Given the description of an element on the screen output the (x, y) to click on. 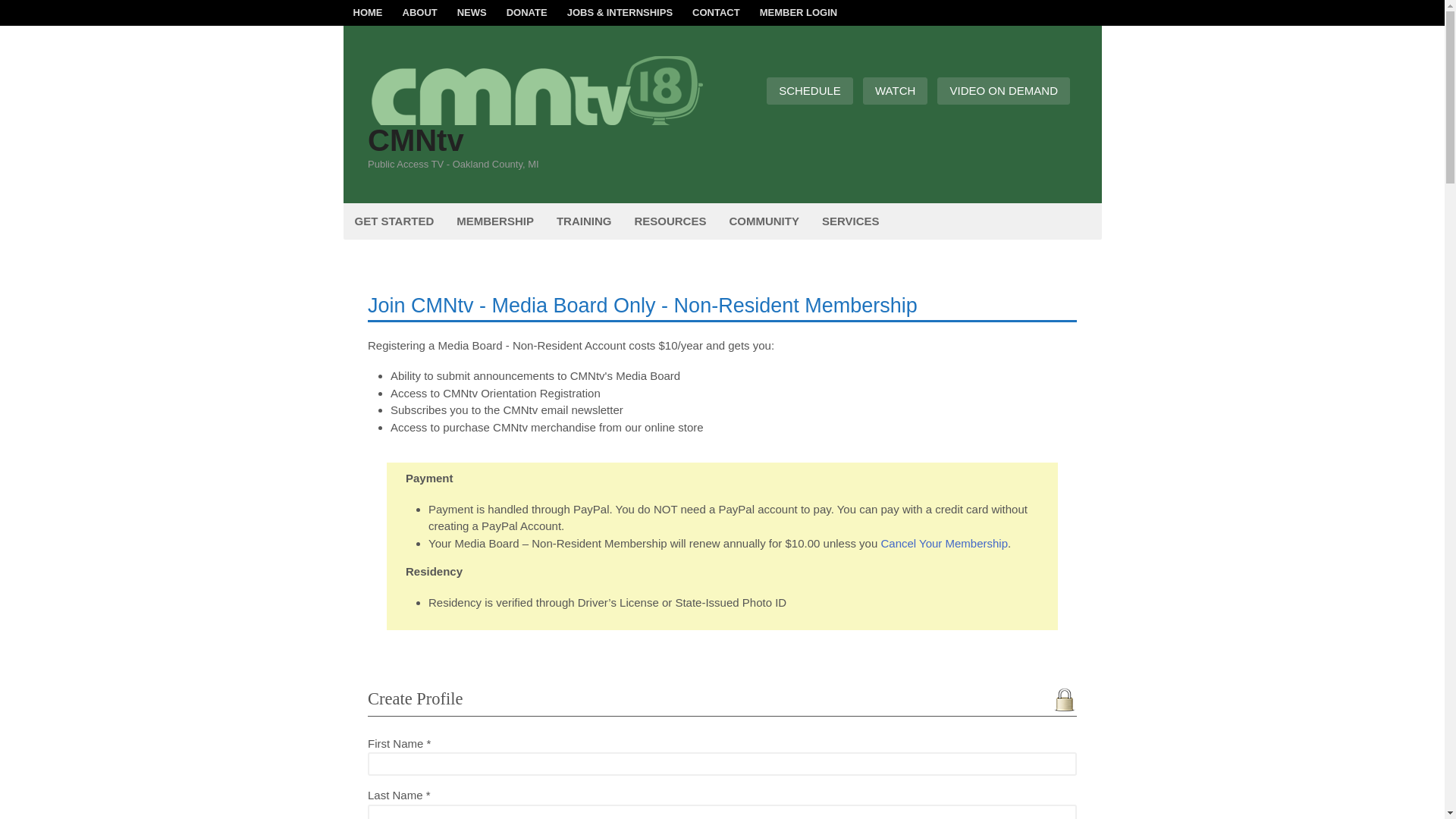
TRAINING (583, 221)
DONATE (526, 12)
VIDEO ON DEMAND (1003, 90)
Public Access TV - Oakland County, MI (538, 116)
HOME (366, 12)
ABOUT (419, 12)
GET STARTED (393, 221)
NEWS (471, 12)
CMNtv (416, 140)
COMMUNITY (763, 221)
CONTACT (715, 12)
MEMBER LOGIN (798, 12)
MEMBERSHIP (494, 221)
SCHEDULE (810, 90)
RESOURCES (670, 221)
